Given the description of an element on the screen output the (x, y) to click on. 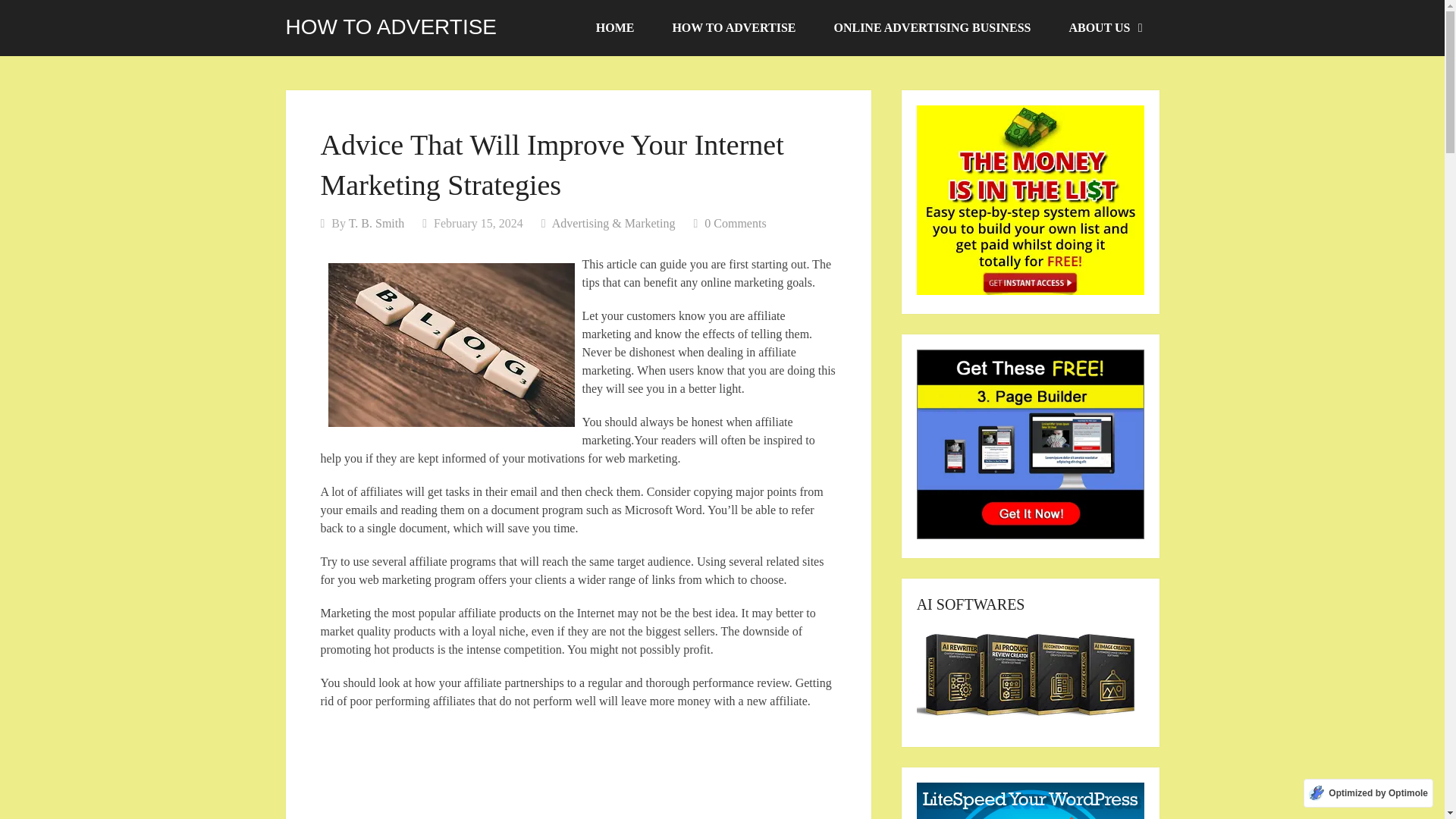
Posts by T. B. Smith (376, 223)
HOW TO ADVERTISE (390, 26)
ABOUT US (1103, 28)
T. B. Smith (376, 223)
HOME (614, 28)
Advice That Will Improve Your Internet Marketing Strategies (450, 344)
0 Comments (734, 223)
ONLINE ADVERTISING BUSINESS (931, 28)
HOW TO ADVERTISE (732, 28)
Advertisement (577, 772)
